Given the description of an element on the screen output the (x, y) to click on. 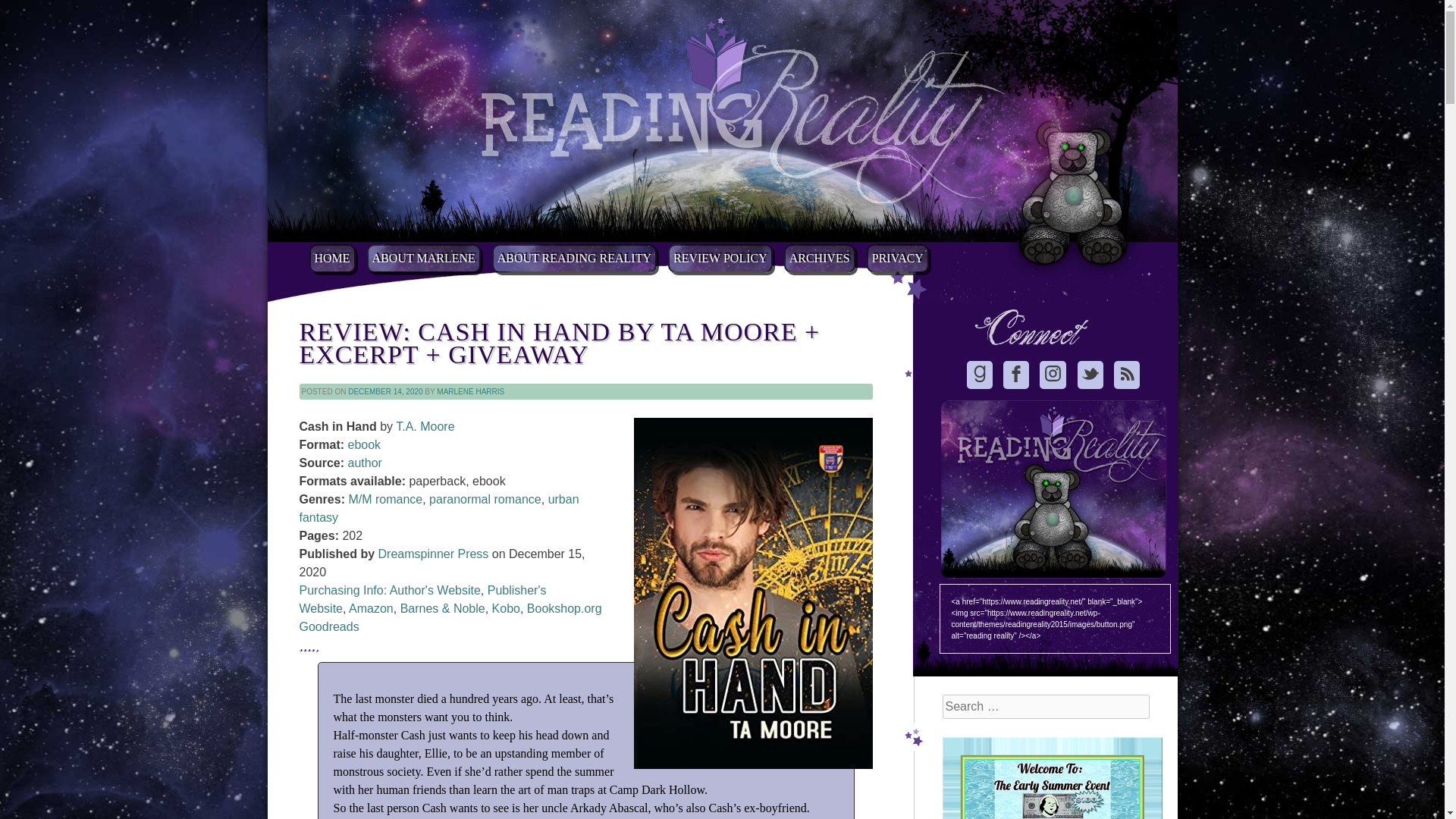
paranormal romance (485, 499)
Purchasing Info: Author's Website (389, 590)
urban fantasy (438, 508)
Amazon (371, 608)
Publisher's Website (422, 599)
MARLENE HARRIS (469, 391)
HOME (331, 258)
PRIVACY (897, 258)
Dreamspinner Press (433, 553)
Kobo (505, 608)
ABOUT MARLENE (423, 258)
ebook (364, 444)
ABOUT READING REALITY (574, 258)
author (364, 462)
ARCHIVES (820, 258)
